Given the description of an element on the screen output the (x, y) to click on. 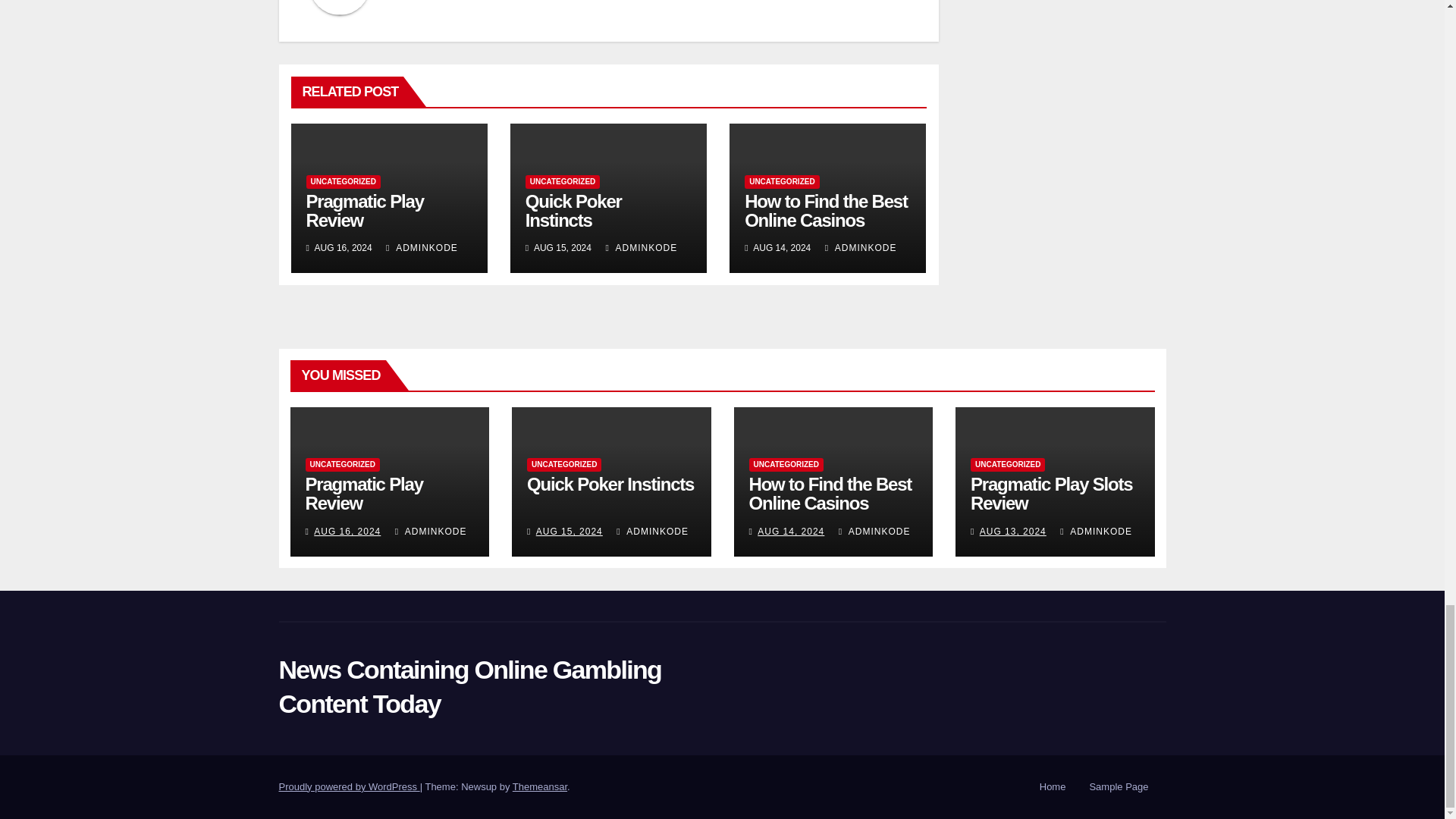
ADMINKODE (421, 247)
Permalink to: How to Find the Best Online Casinos (825, 210)
UNCATEGORIZED (342, 182)
UNCATEGORIZED (781, 182)
Quick Poker Instincts (573, 210)
Permalink to: Pragmatic Play Slots Review (1051, 493)
Home (1052, 786)
Permalink to: Quick Poker Instincts (573, 210)
ADMINKODE (641, 247)
Permalink to: Pragmatic Play Review (363, 493)
